Given the description of an element on the screen output the (x, y) to click on. 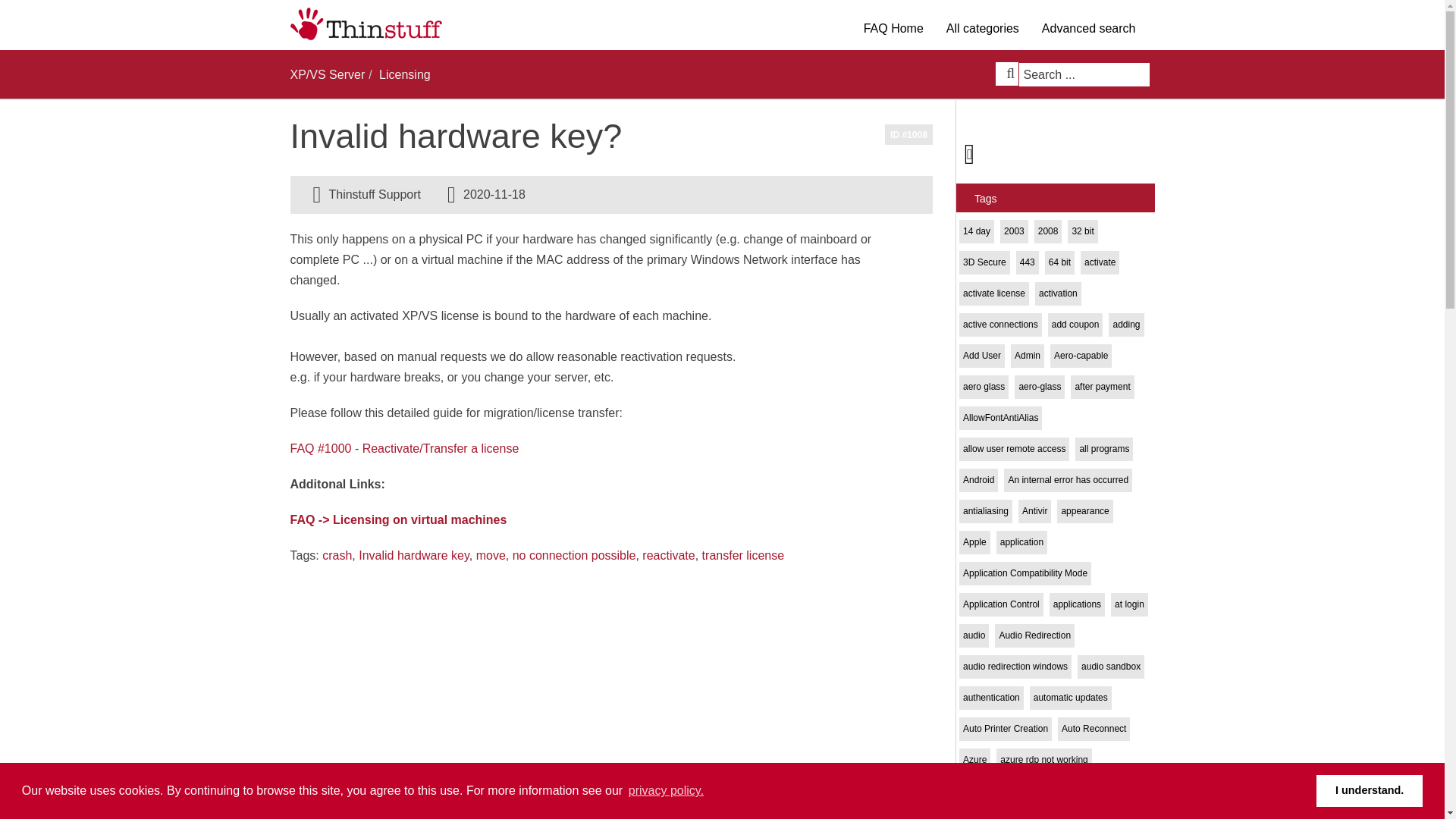
14 day (976, 231)
FAQ Home (893, 28)
move (490, 554)
after payment (1102, 386)
activation (1058, 293)
transfer license (742, 554)
Print this record (969, 152)
Aero-capable (1080, 355)
Admin (1026, 355)
no connection possible (574, 554)
